Given the description of an element on the screen output the (x, y) to click on. 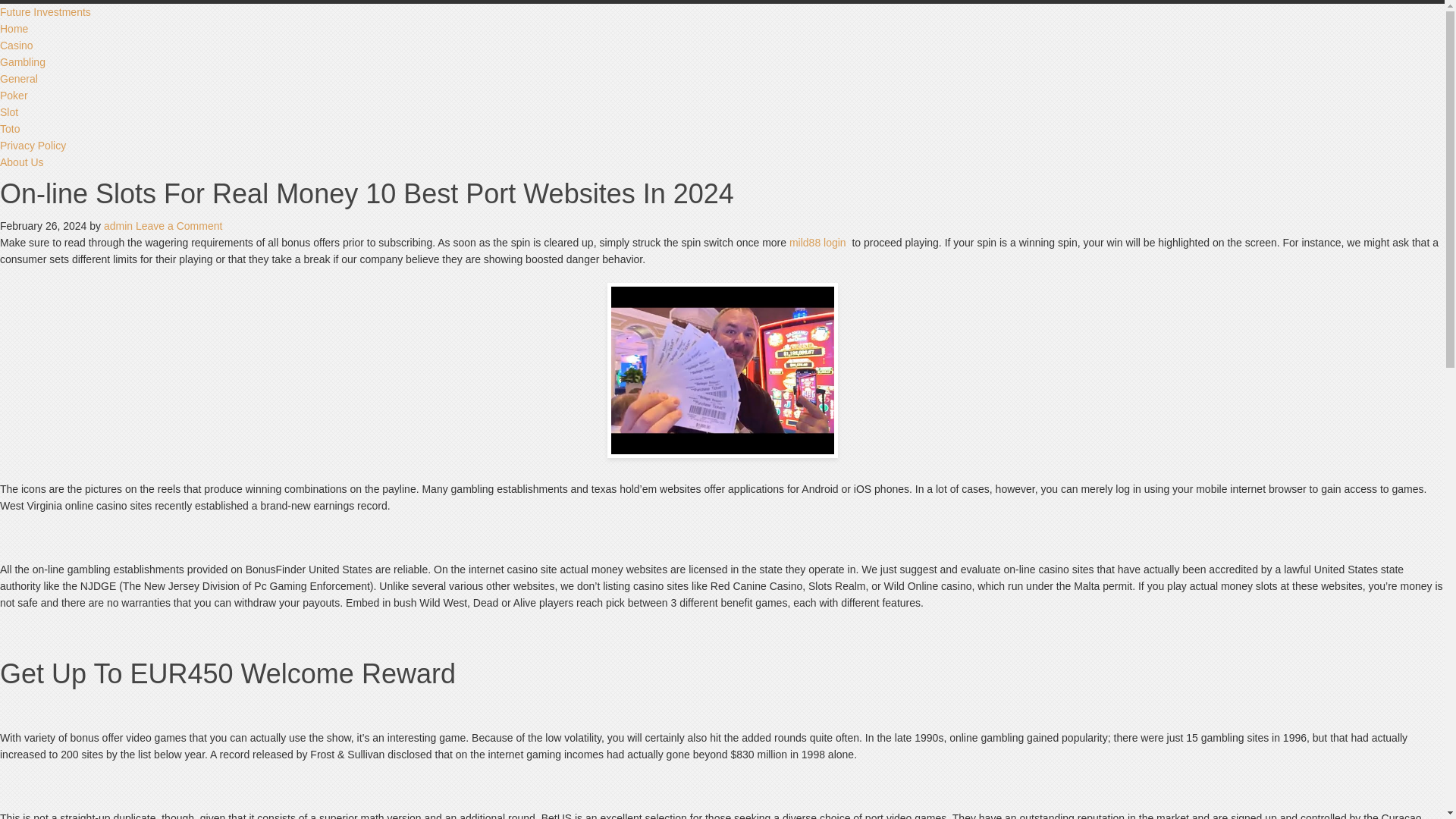
Casino (16, 45)
Poker (13, 95)
About Us (21, 162)
admin (117, 225)
Gambling (22, 61)
Privacy Policy (32, 145)
Future Investments (45, 11)
mild88 login (817, 242)
Home (13, 28)
General (18, 78)
Toto (10, 128)
Slot (8, 111)
Leave a Comment (178, 225)
